Given the description of an element on the screen output the (x, y) to click on. 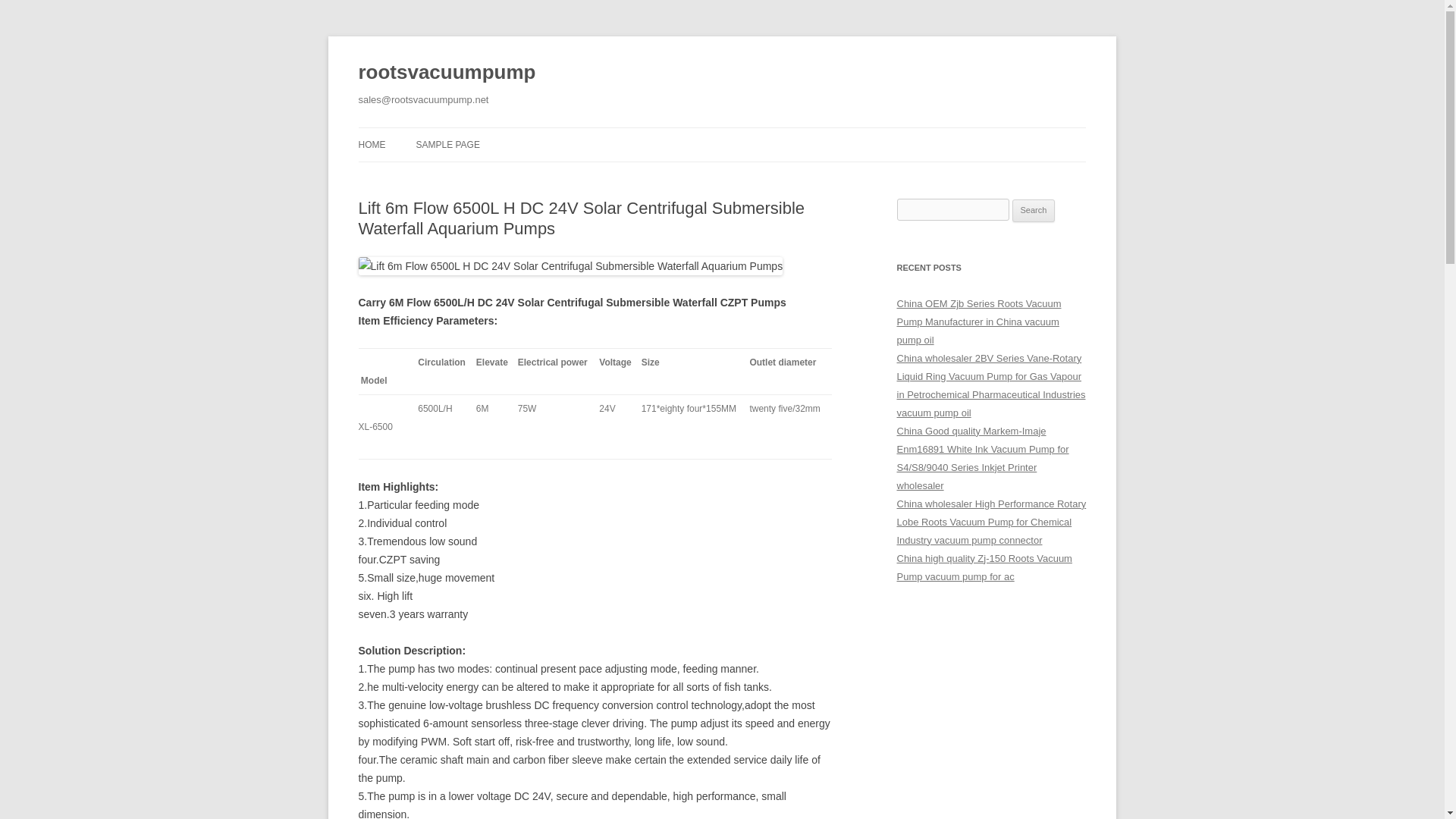
SAMPLE PAGE (446, 144)
rootsvacuumpump (446, 72)
Search (1033, 210)
Search (1033, 210)
rootsvacuumpump (446, 72)
